Given the description of an element on the screen output the (x, y) to click on. 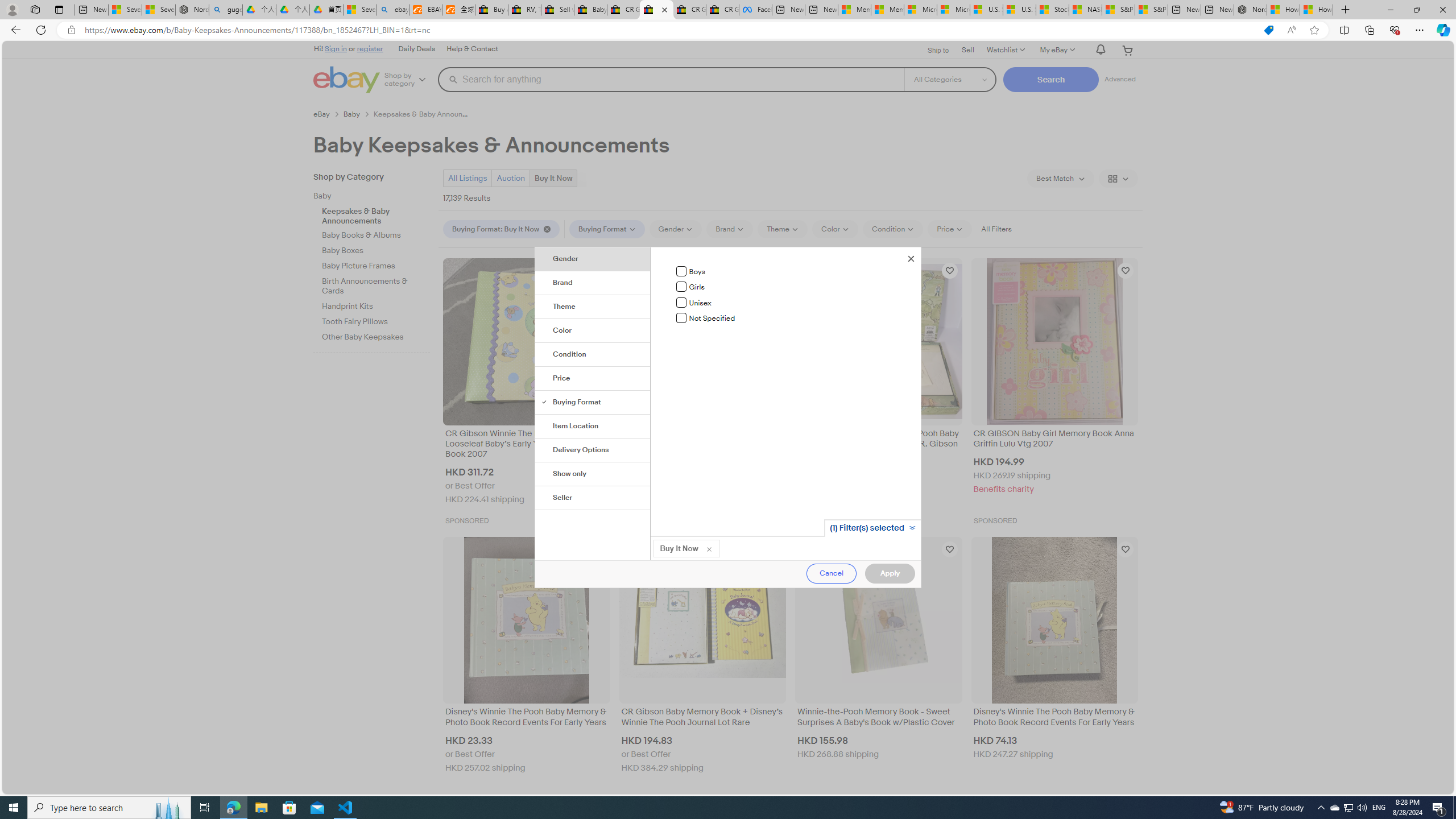
Not Specified (681, 317)
Apply (889, 573)
This site has coupons! Shopping in Microsoft Edge (1268, 29)
Cancel (831, 573)
